Given the description of an element on the screen output the (x, y) to click on. 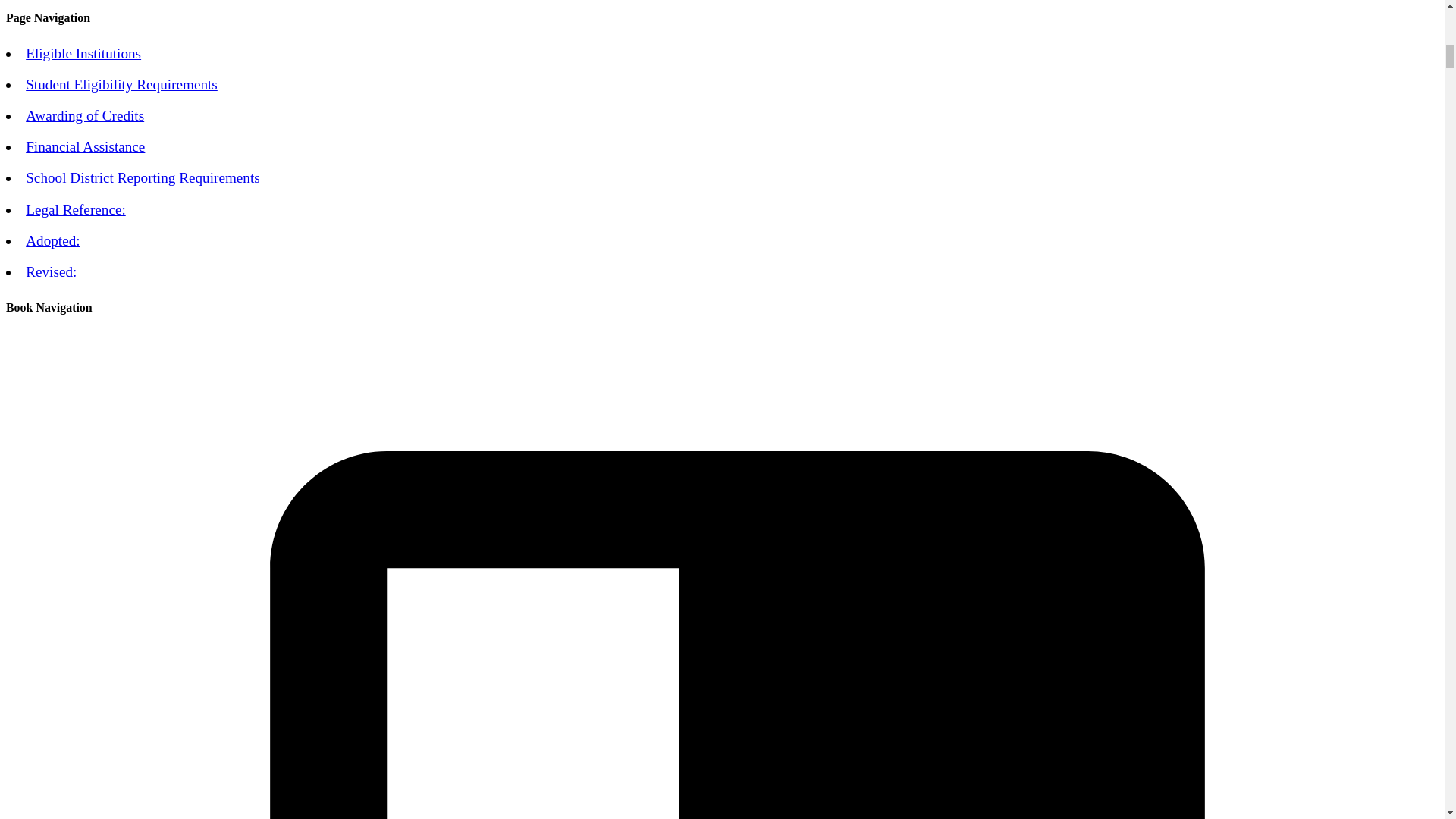
Eligible Institutions (83, 53)
Legal Reference: (75, 209)
Student Eligibility Requirements (121, 84)
Financial Assistance (85, 146)
Awarding of Credits (85, 115)
Adopted: (53, 240)
Revised: (51, 271)
School District Reporting Requirements (143, 177)
